Given the description of an element on the screen output the (x, y) to click on. 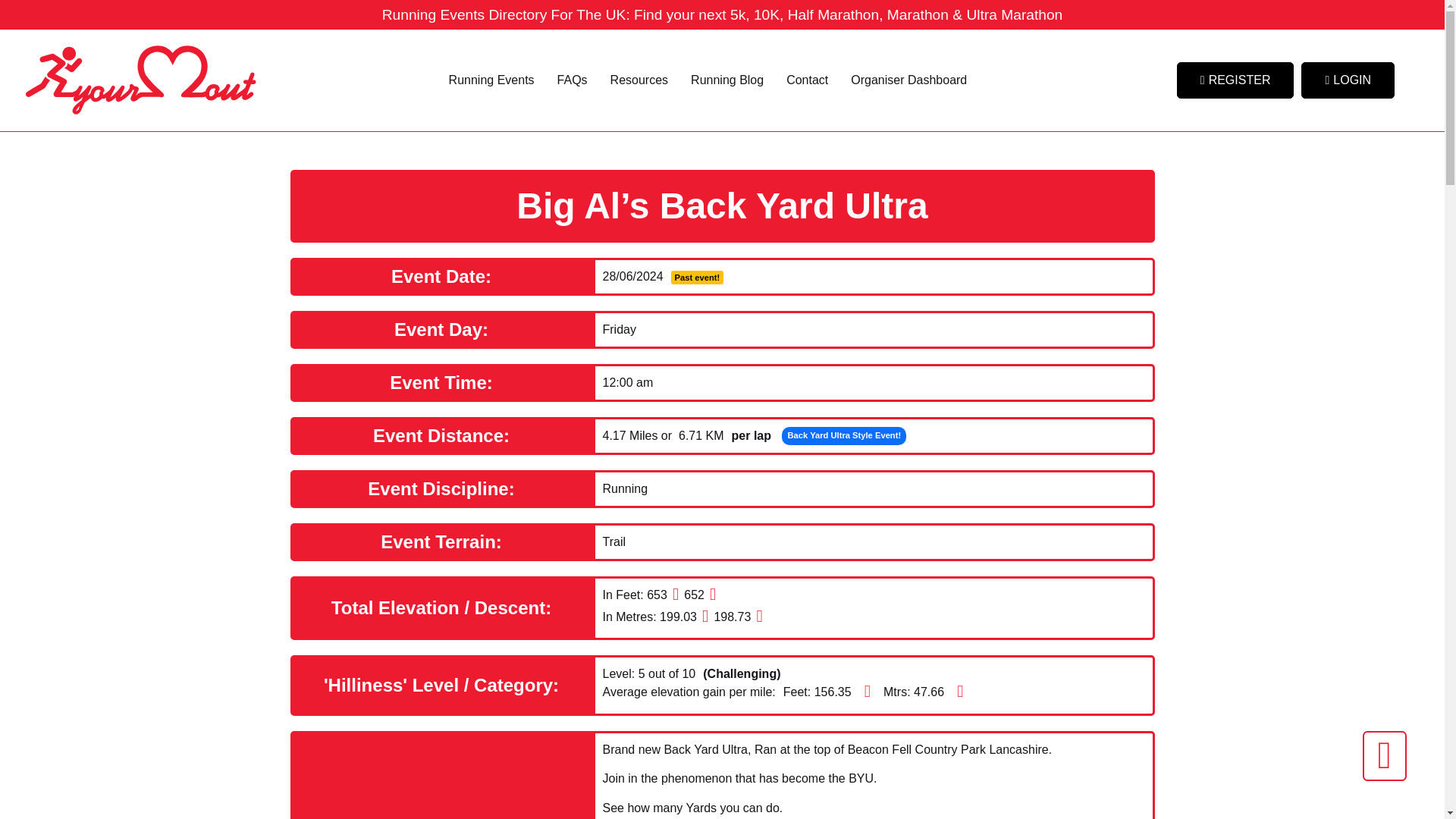
Contact (807, 80)
FAQs (572, 80)
Organiser Dashboard (909, 80)
Running Blog (726, 80)
Running Events (492, 80)
Resources (638, 80)
